Given the description of an element on the screen output the (x, y) to click on. 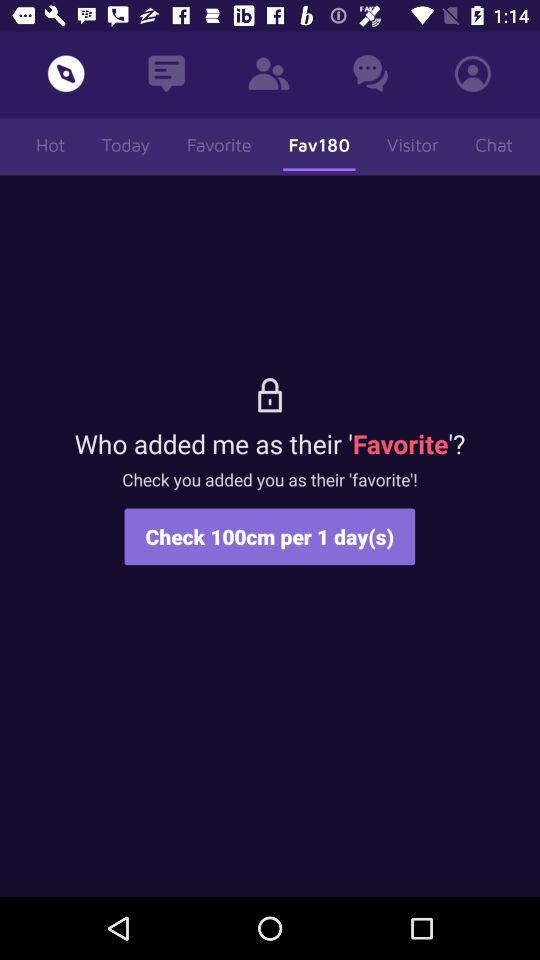
click item below the check you added item (269, 536)
